Given the description of an element on the screen output the (x, y) to click on. 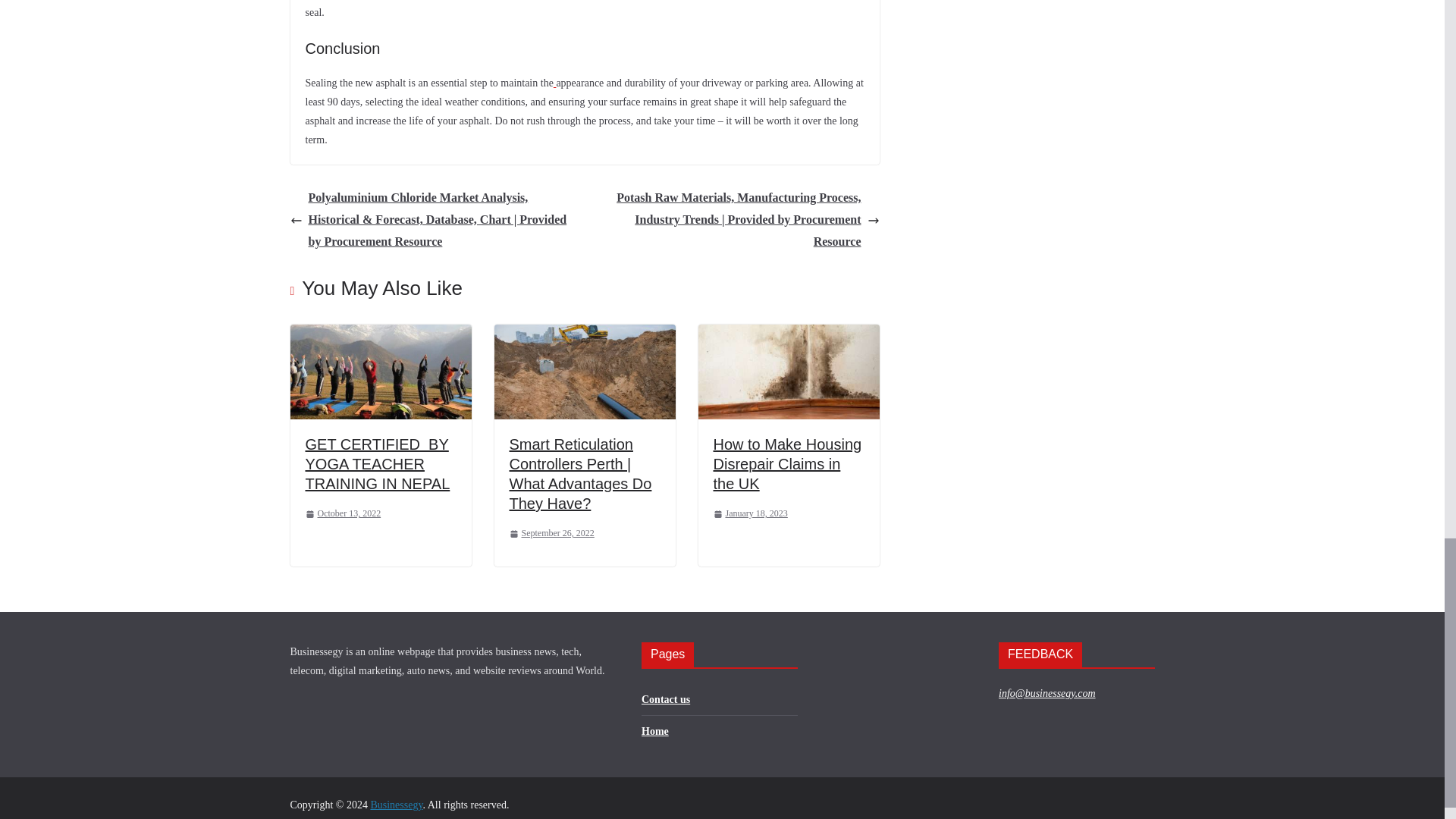
GET CERTIFIED  BY YOGA TEACHER TRAINING IN NEPAL (376, 463)
4:38 am (551, 533)
September 26, 2022 (551, 533)
10:22 am (342, 514)
January 18, 2023 (750, 514)
October 13, 2022 (342, 514)
How to Make Housing Disrepair Claims in the UK (787, 463)
